Given the description of an element on the screen output the (x, y) to click on. 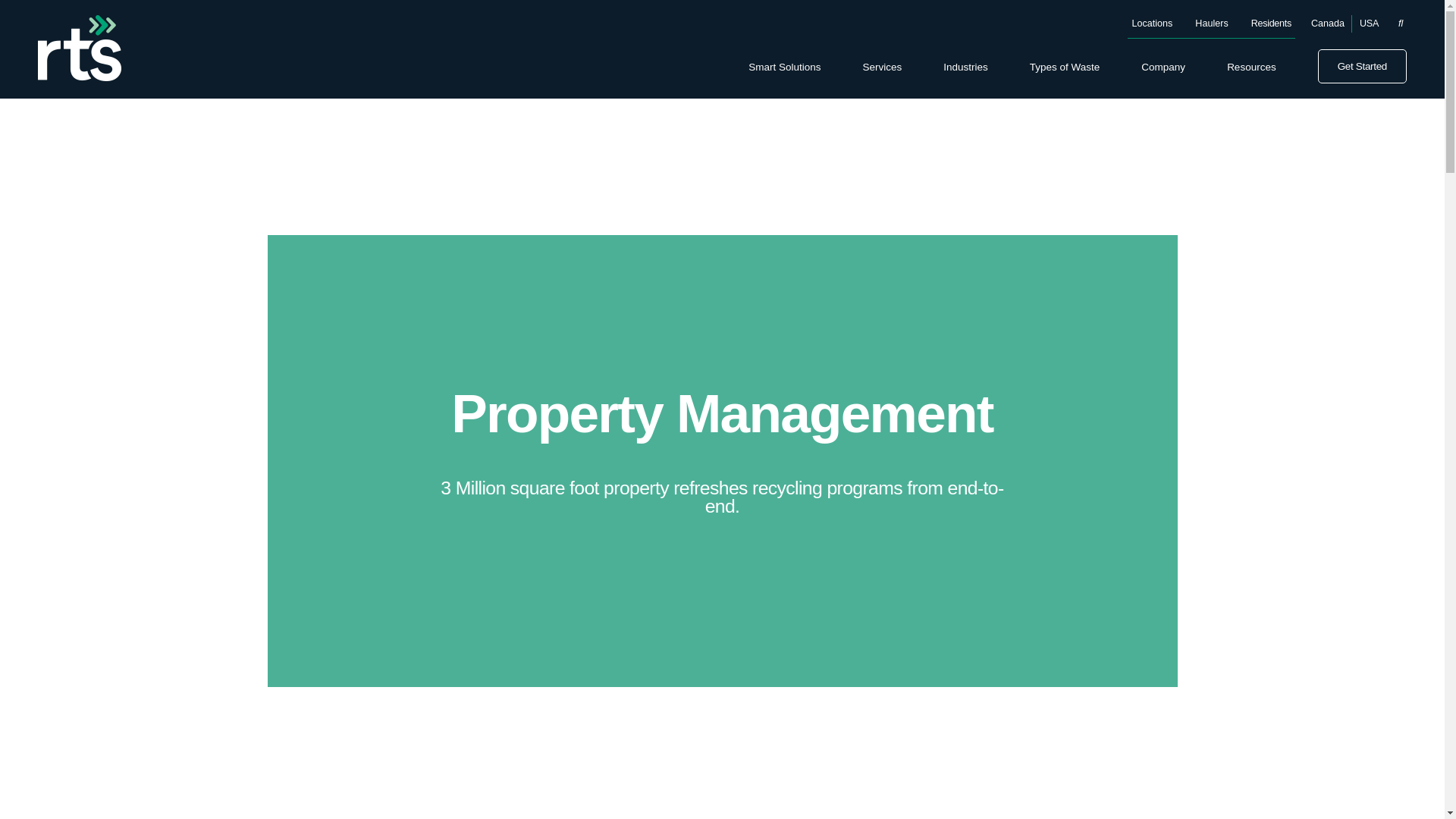
Industries (965, 67)
Company (1163, 67)
Smart Solutions (784, 67)
Services (881, 67)
Types of Waste (1064, 67)
